Given the description of an element on the screen output the (x, y) to click on. 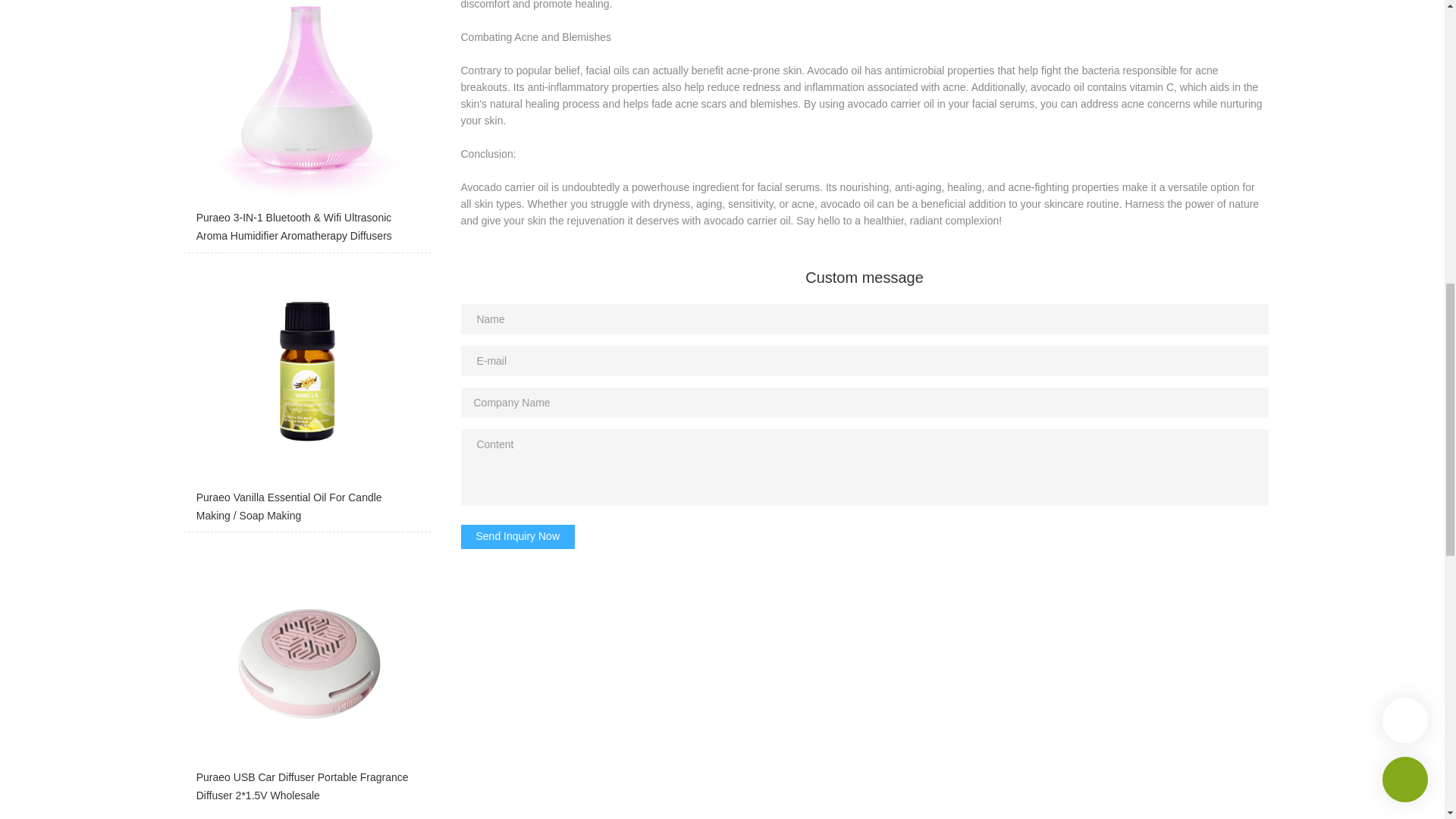
Send Inquiry Now (518, 536)
